Given the description of an element on the screen output the (x, y) to click on. 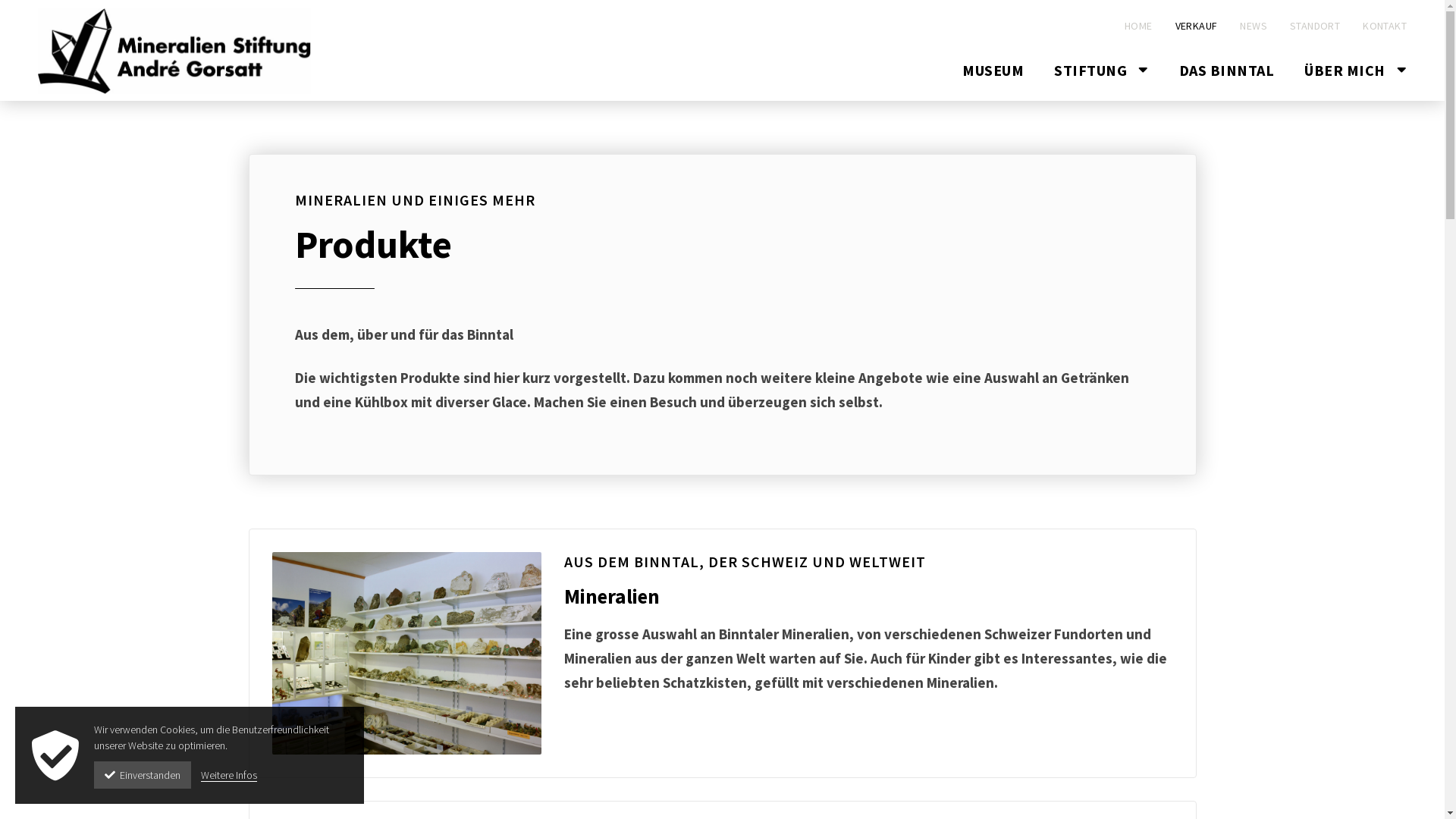
Einverstanden Element type: text (142, 774)
KONTAKT Element type: text (1372, 25)
VERKAUF Element type: text (1184, 25)
DAS BINNTAL Element type: text (1226, 80)
NEWS Element type: text (1242, 25)
STANDORT Element type: text (1303, 25)
MUSEUM Element type: text (992, 80)
HOME Element type: text (1132, 25)
Weitere Infos Element type: text (228, 775)
STIFTUNG Element type: text (1101, 80)
